Given the description of an element on the screen output the (x, y) to click on. 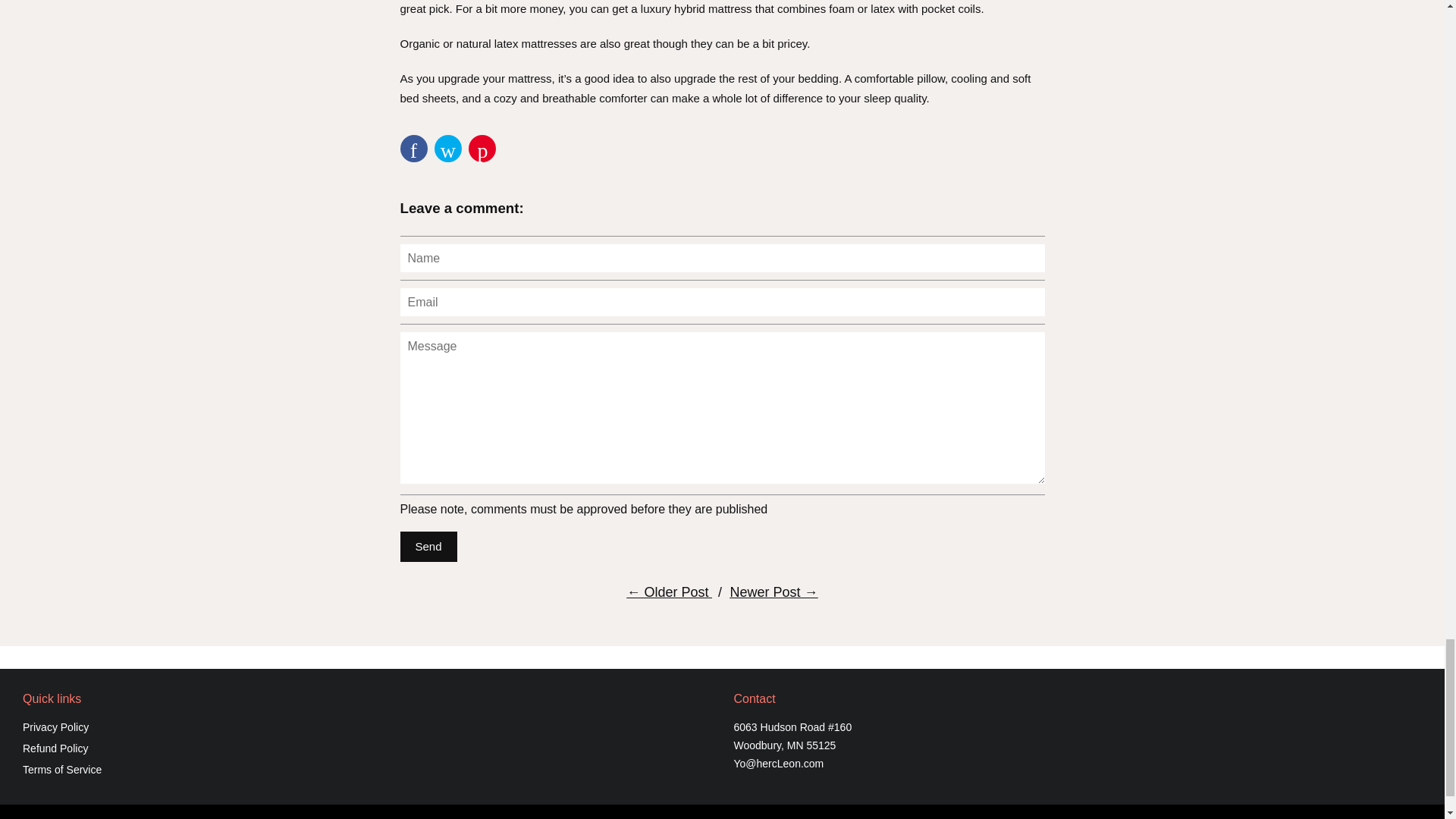
Share on Facebook (414, 148)
Share on Twitter (447, 148)
Share on Pinterest (482, 148)
